Given the description of an element on the screen output the (x, y) to click on. 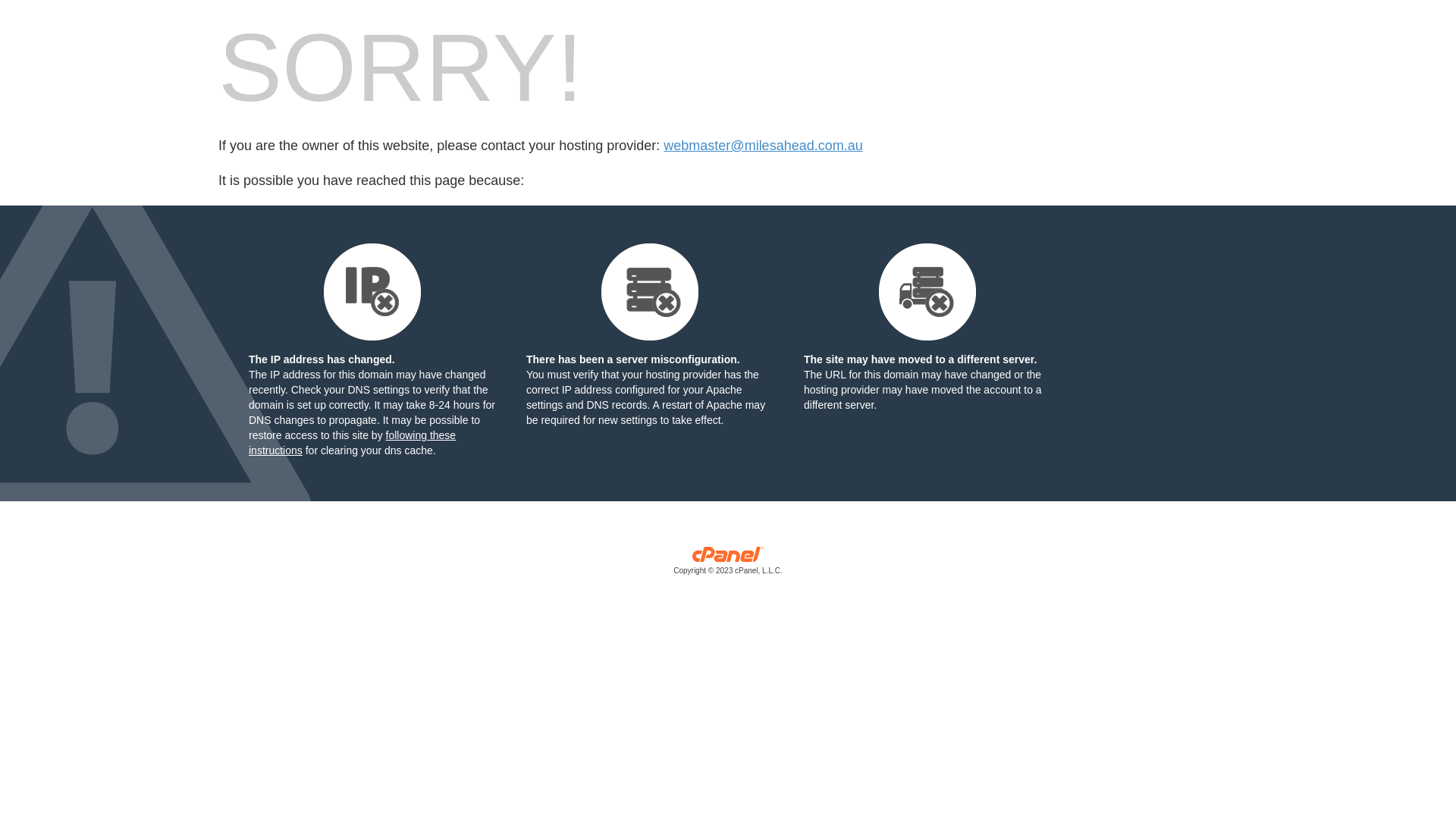
following these instructions Element type: text (351, 442)
webmaster@milesahead.com.au Element type: text (762, 145)
